Given the description of an element on the screen output the (x, y) to click on. 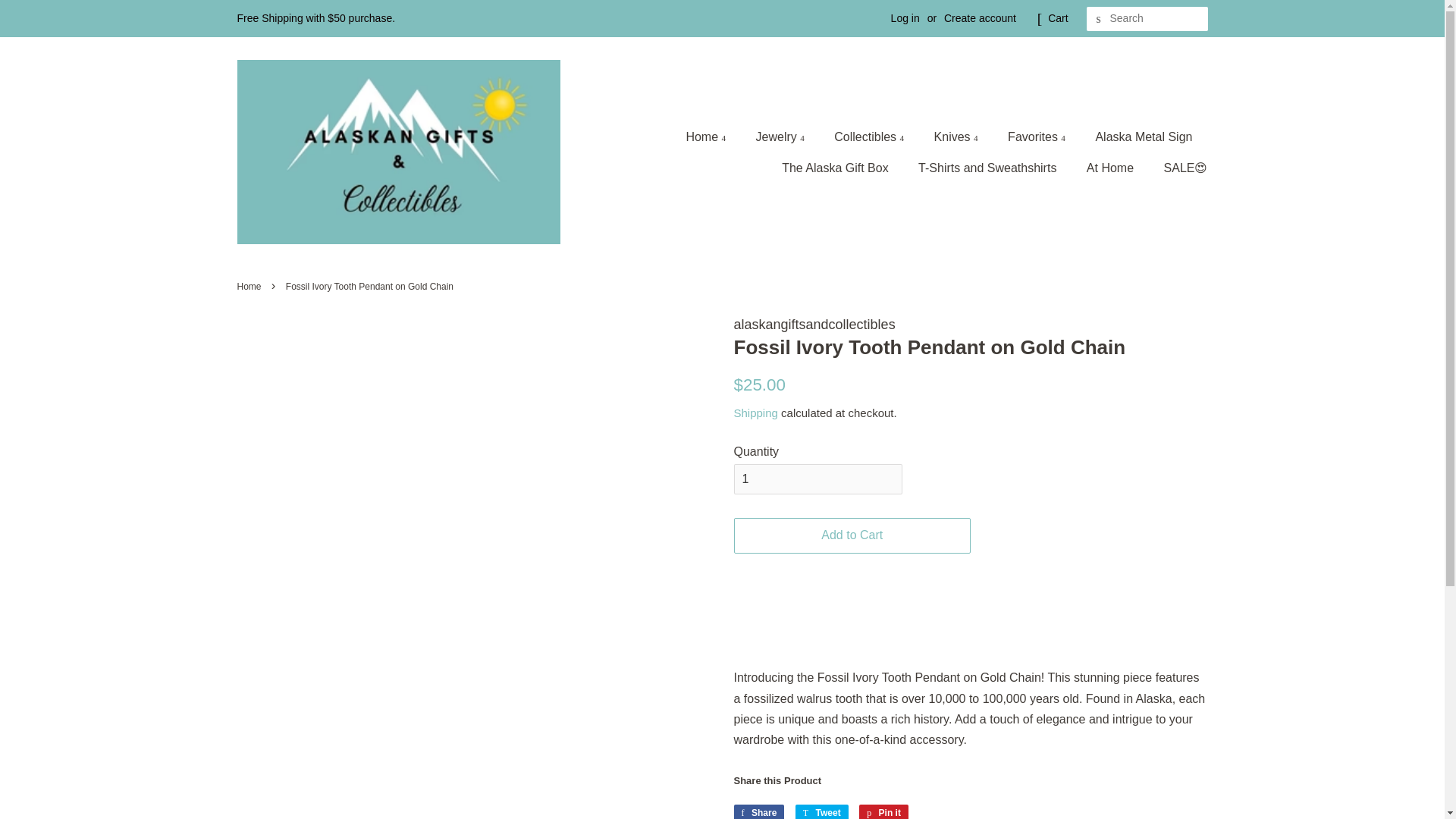
Back to the frontpage (249, 286)
Pin on Pinterest (883, 811)
Share on Facebook (758, 811)
1 (817, 479)
Create account (979, 18)
Search (1097, 18)
Log in (905, 18)
Cart (1057, 18)
Tweet on Twitter (821, 811)
